Given the description of an element on the screen output the (x, y) to click on. 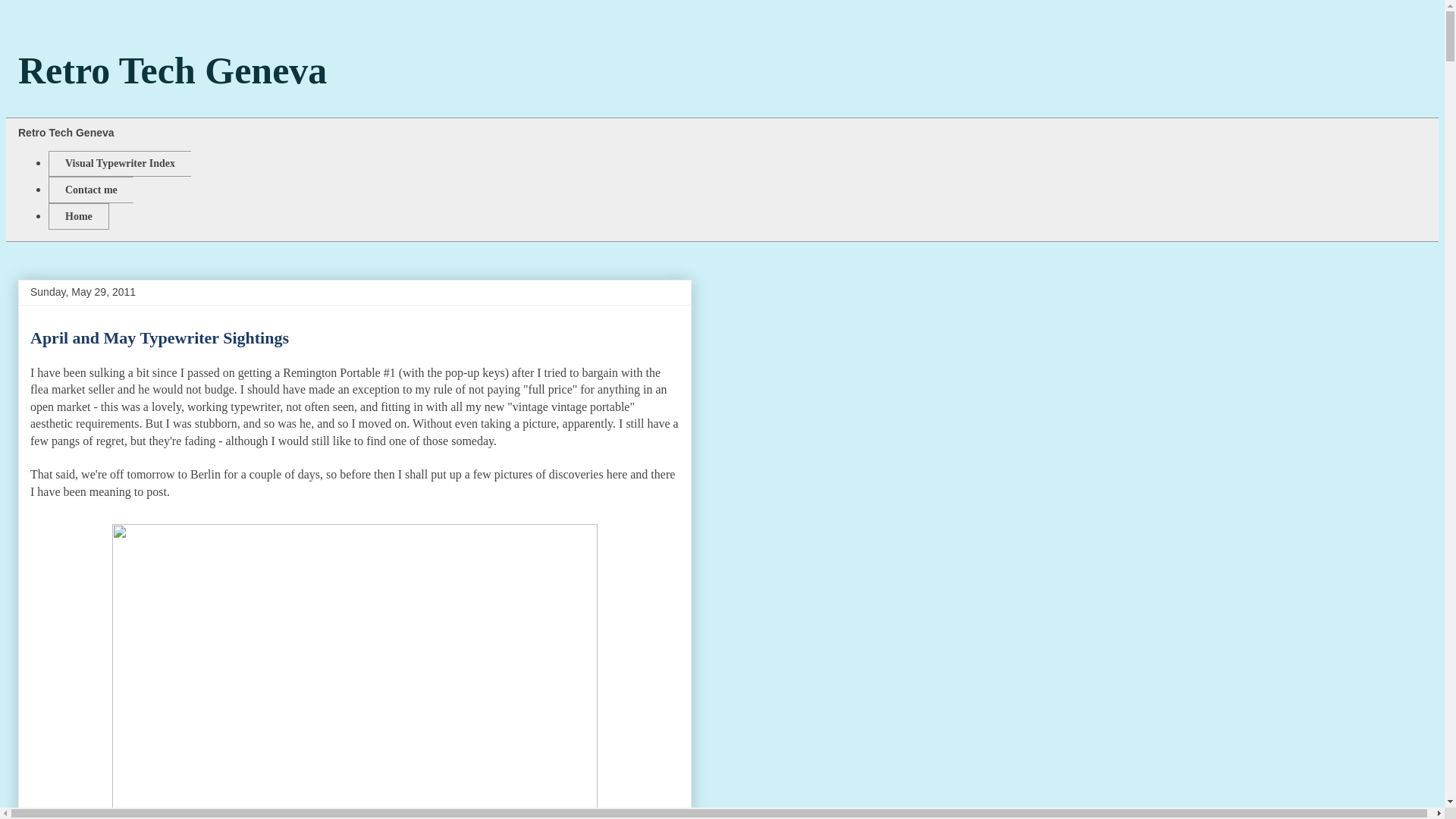
Retro Tech Geneva (171, 69)
Home (78, 216)
Contact me (90, 189)
Visual Typewriter Index (119, 163)
